Given the description of an element on the screen output the (x, y) to click on. 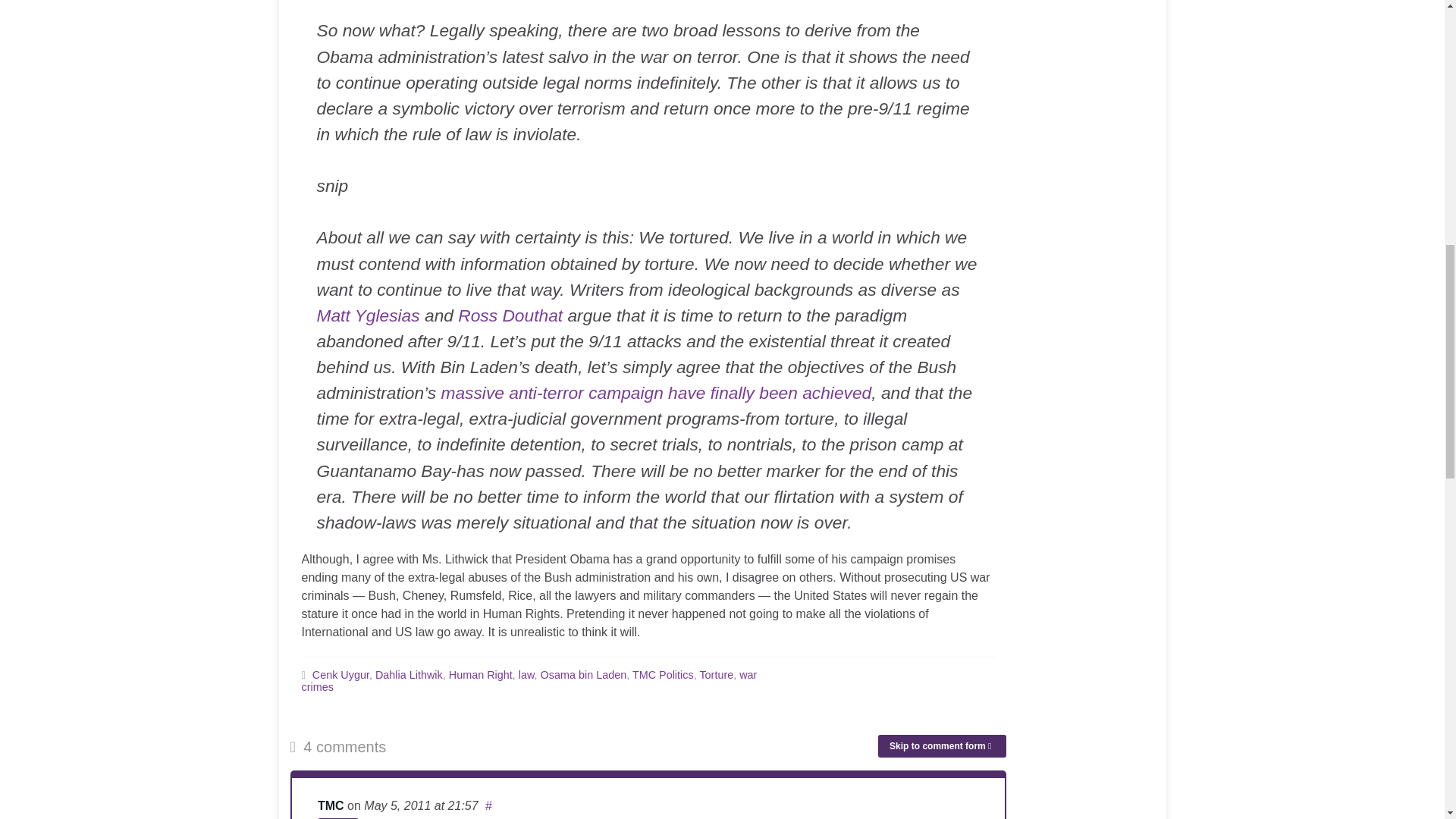
law (526, 674)
Torture (715, 674)
war crimes (529, 680)
Ross Douthat (510, 315)
TMC Politics (662, 674)
Osama bin Laden (583, 674)
Cenk Uygur (341, 674)
massive anti-terror campaign have finally been achieved (655, 392)
TMC (330, 805)
Dahlia Lithwik (408, 674)
